Given the description of an element on the screen output the (x, y) to click on. 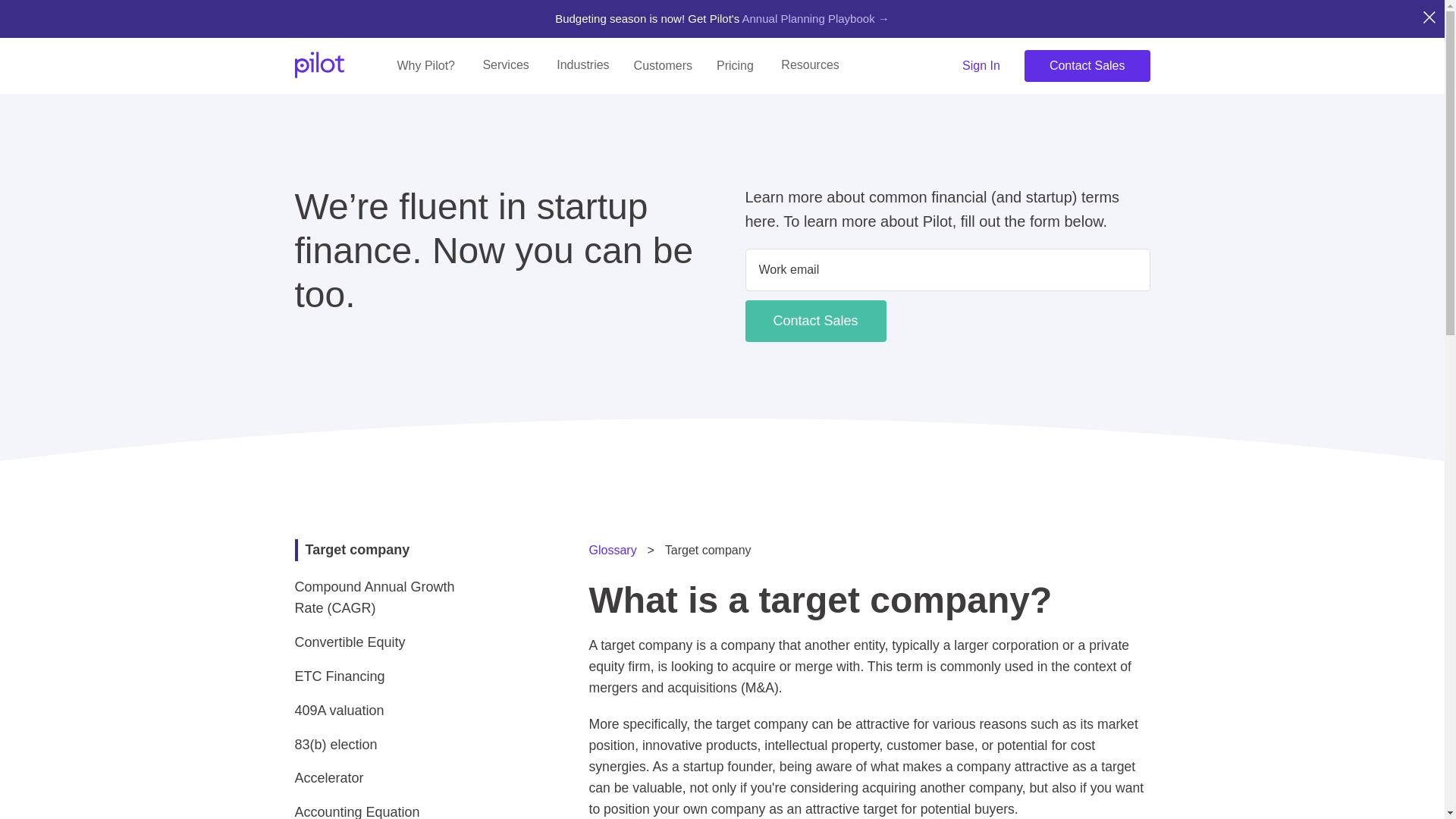
Customers (662, 65)
Why Pilot? (426, 65)
Pricing (734, 65)
Contact Sales (814, 321)
Contact Sales (1087, 65)
Sign In (980, 65)
